Given the description of an element on the screen output the (x, y) to click on. 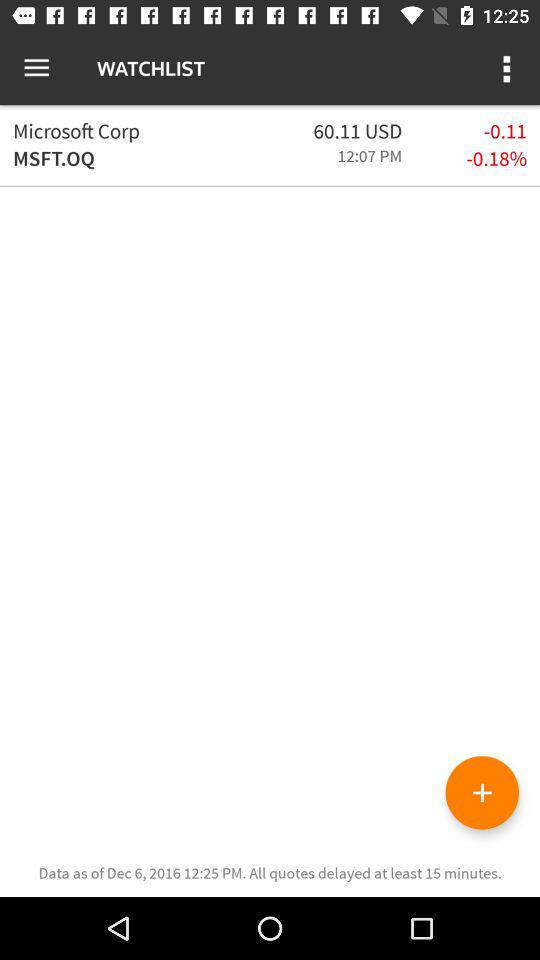
turn off icon to the right of the watchlist icon (508, 67)
